Given the description of an element on the screen output the (x, y) to click on. 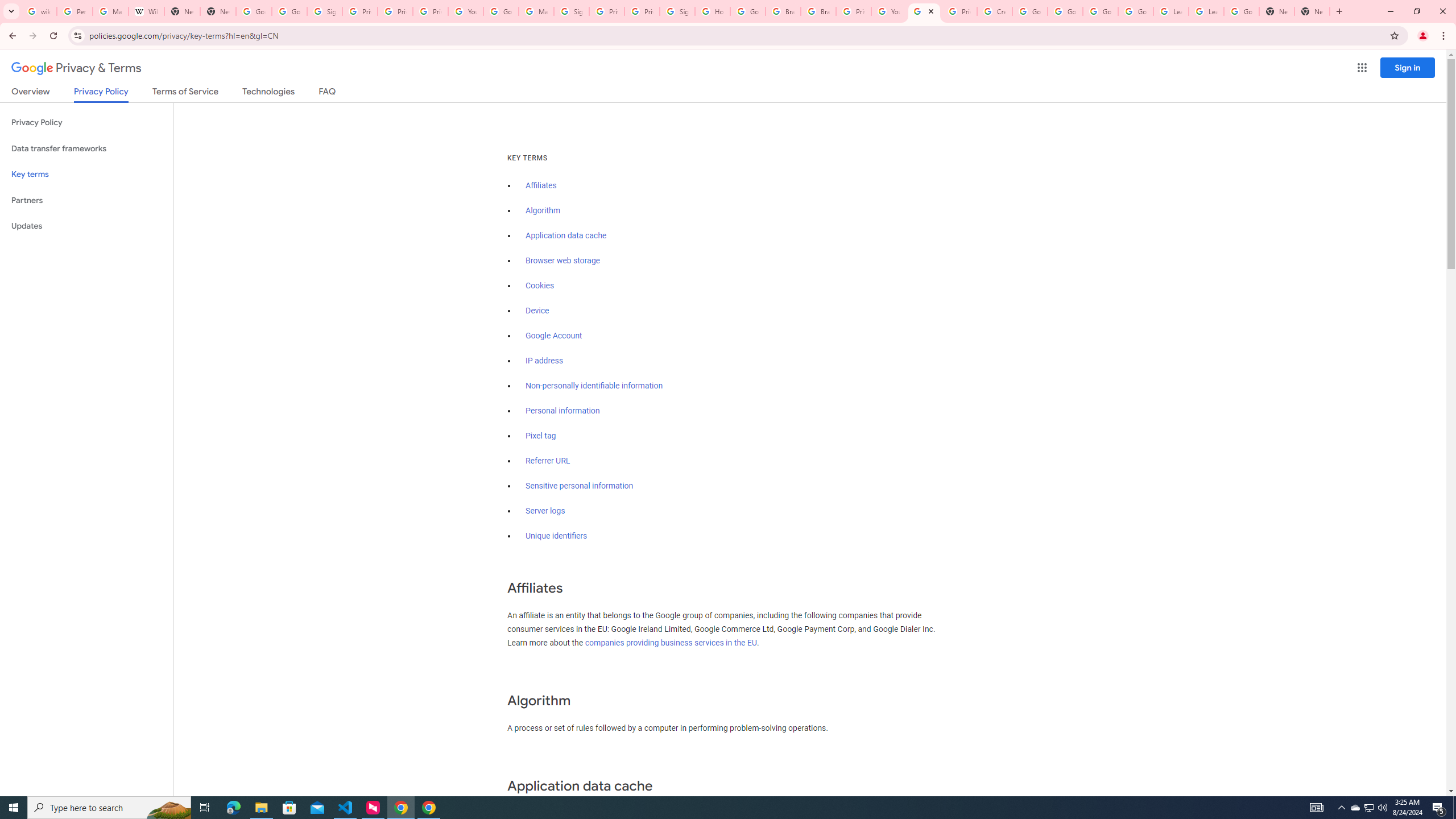
Google Drive: Sign-in (288, 11)
New Tab (1312, 11)
New Tab (218, 11)
Create your Google Account (994, 11)
Algorithm (542, 210)
Server logs (544, 511)
Brand Resource Center (817, 11)
New Tab (1276, 11)
YouTube (465, 11)
Google Account (553, 335)
